Given the description of an element on the screen output the (x, y) to click on. 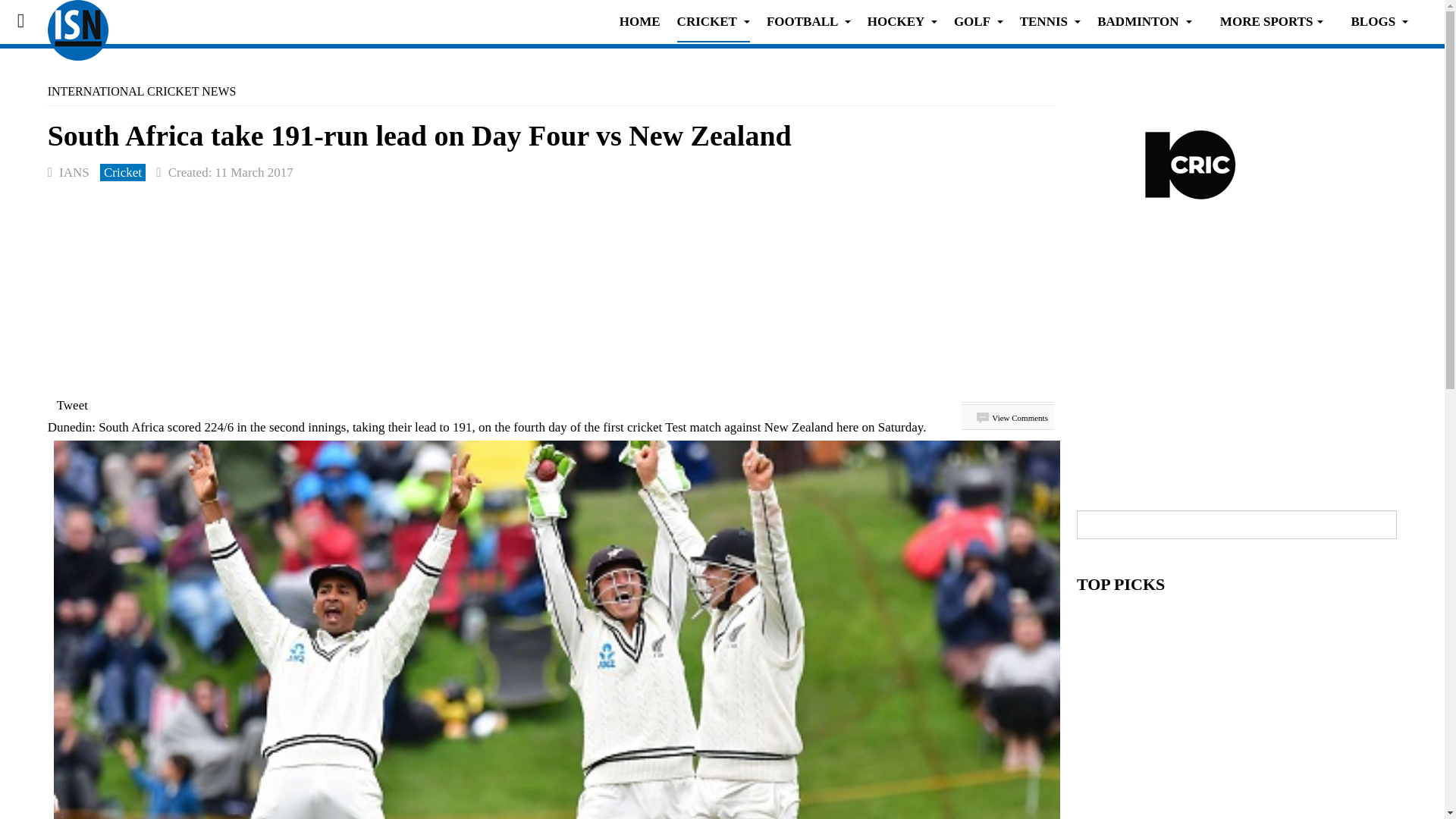
Indian Sports News (77, 20)
Add a comment (1012, 417)
FOOTBALL (808, 21)
CRICKET (713, 21)
Advertisement (1236, 367)
HOME (640, 21)
